Given the description of an element on the screen output the (x, y) to click on. 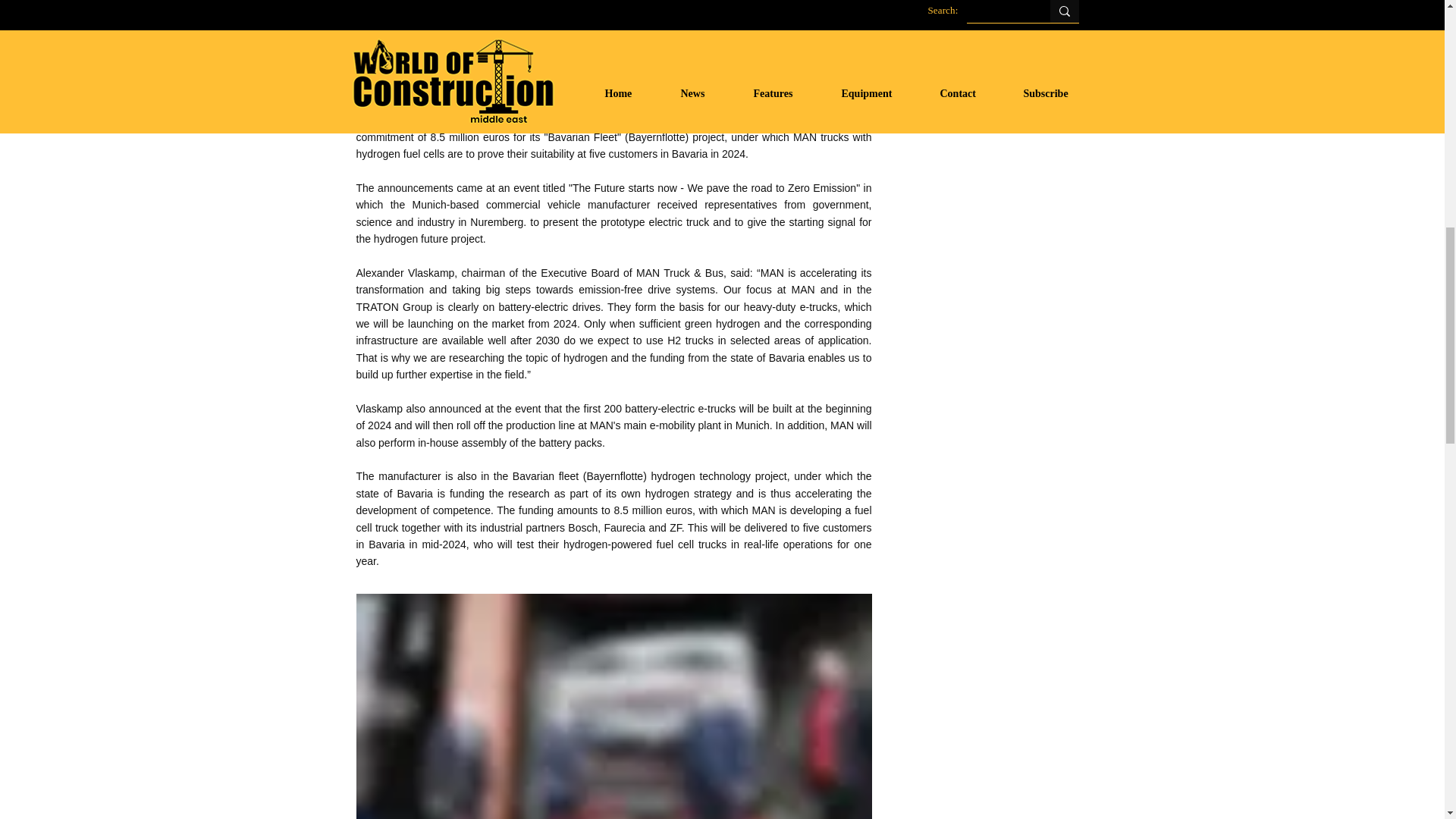
MAN 2 (614, 706)
